Given the description of an element on the screen output the (x, y) to click on. 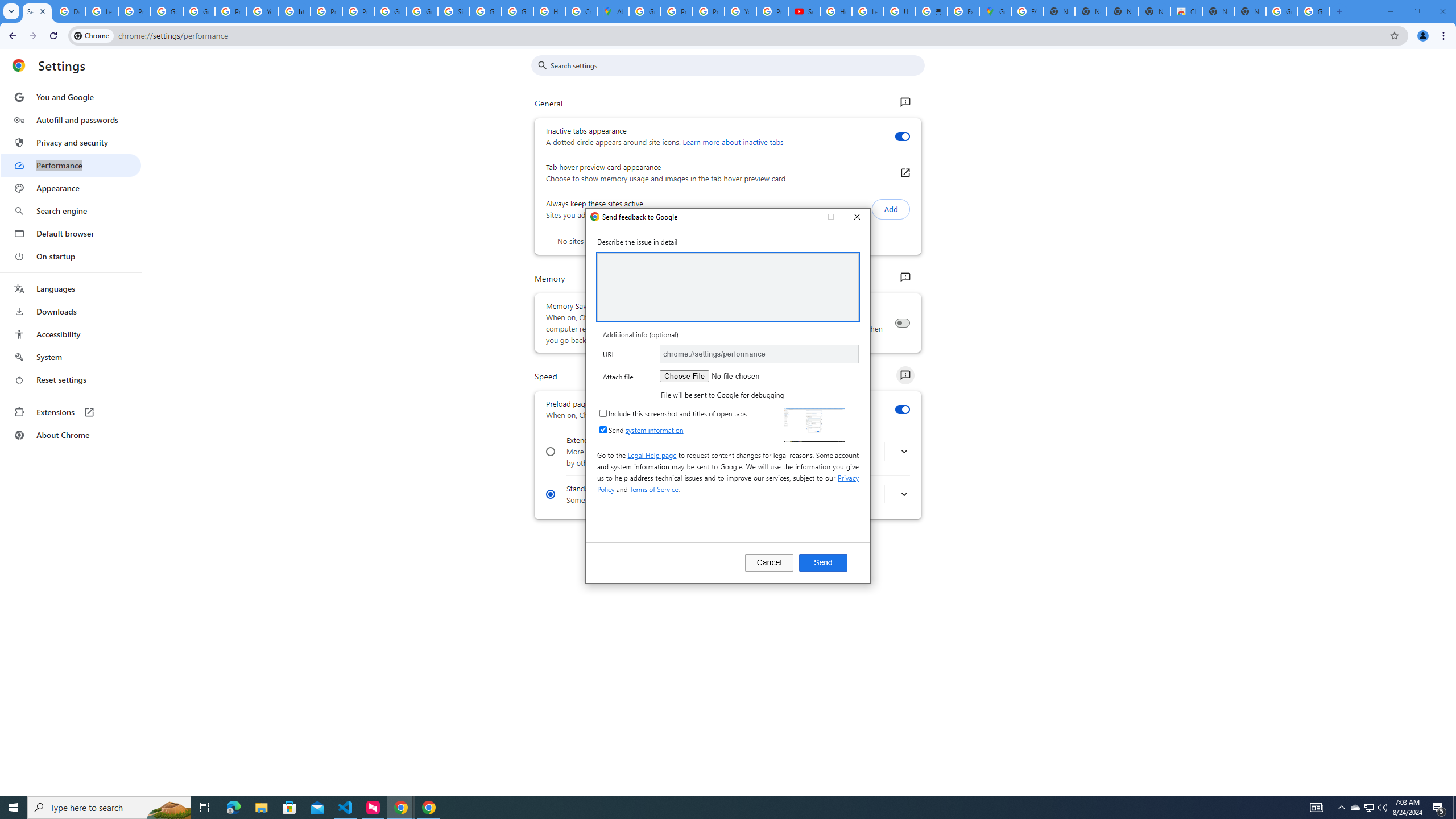
Languages (70, 288)
Send system information (603, 429)
Explore new street-level details - Google Maps Help (1355, 807)
User Promoted Notification Area (963, 11)
Running applications (1368, 807)
Performance (717, 807)
Send (70, 164)
Extended preloading (823, 562)
Chrome Web Store (550, 452)
Accessibility (1185, 11)
Settings - Performance (70, 333)
